Given the description of an element on the screen output the (x, y) to click on. 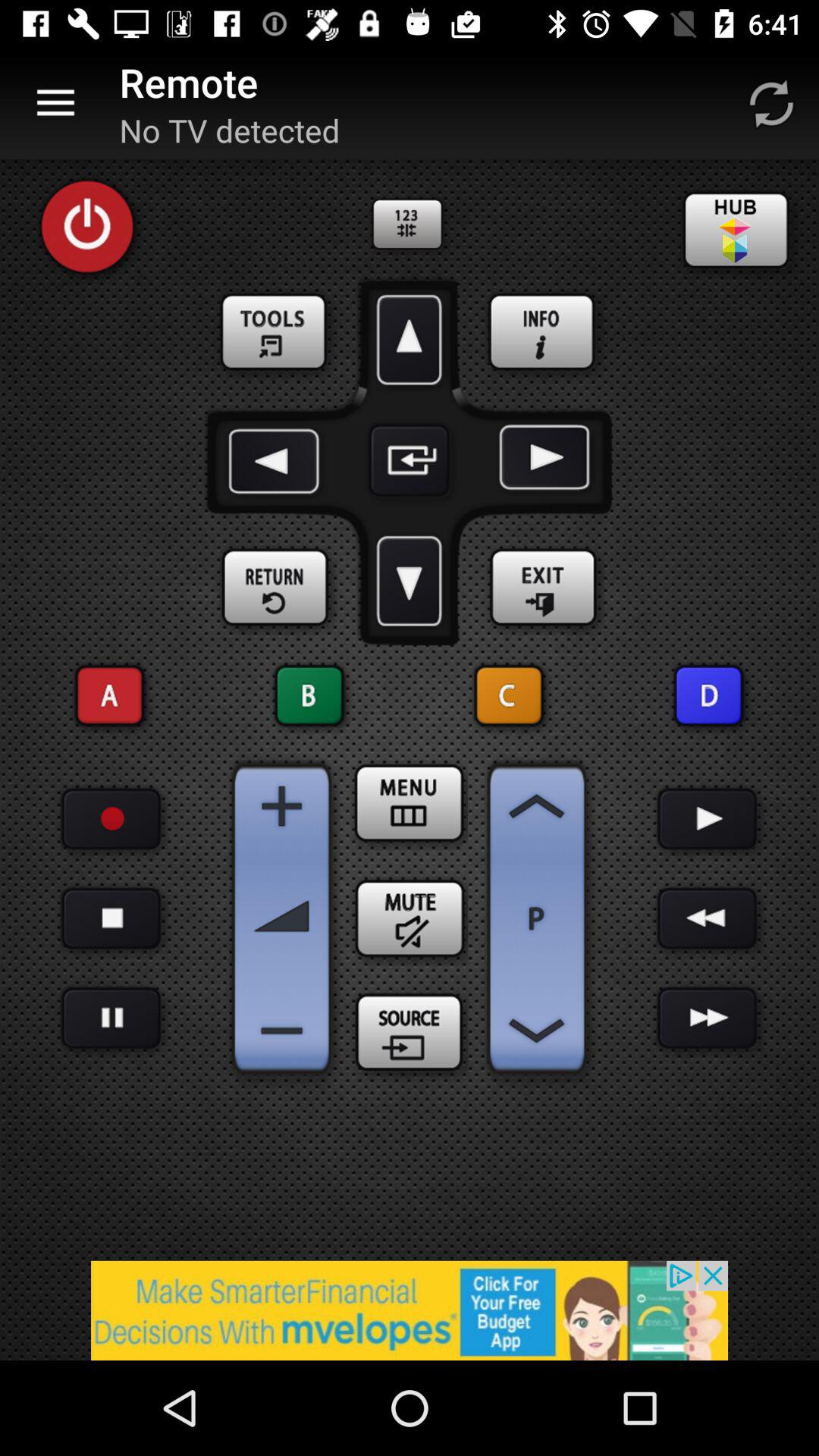
go to info patten option (542, 332)
